Given the description of an element on the screen output the (x, y) to click on. 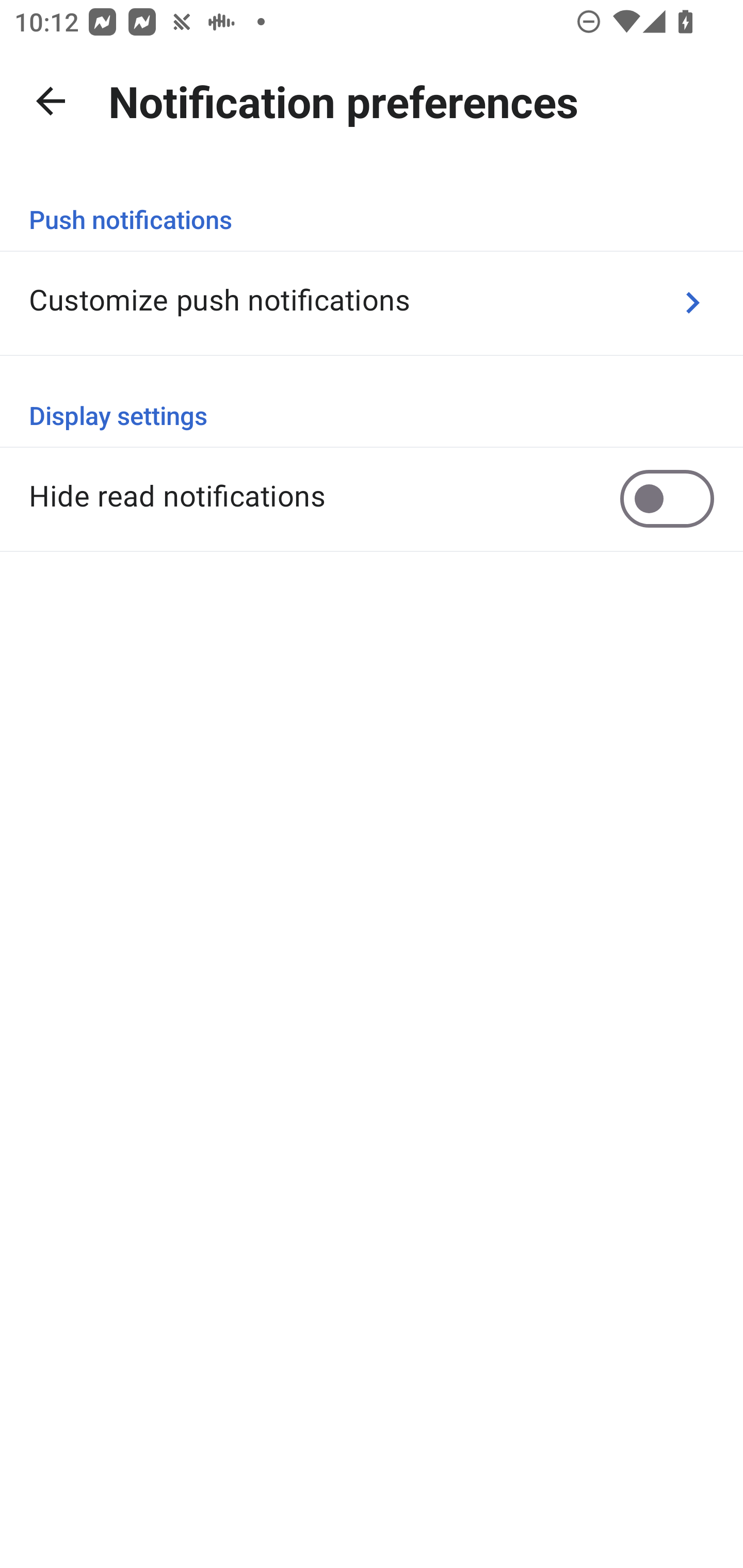
Navigate up (50, 101)
Customize push notifications (371, 302)
Hide read notifications (371, 498)
